Given the description of an element on the screen output the (x, y) to click on. 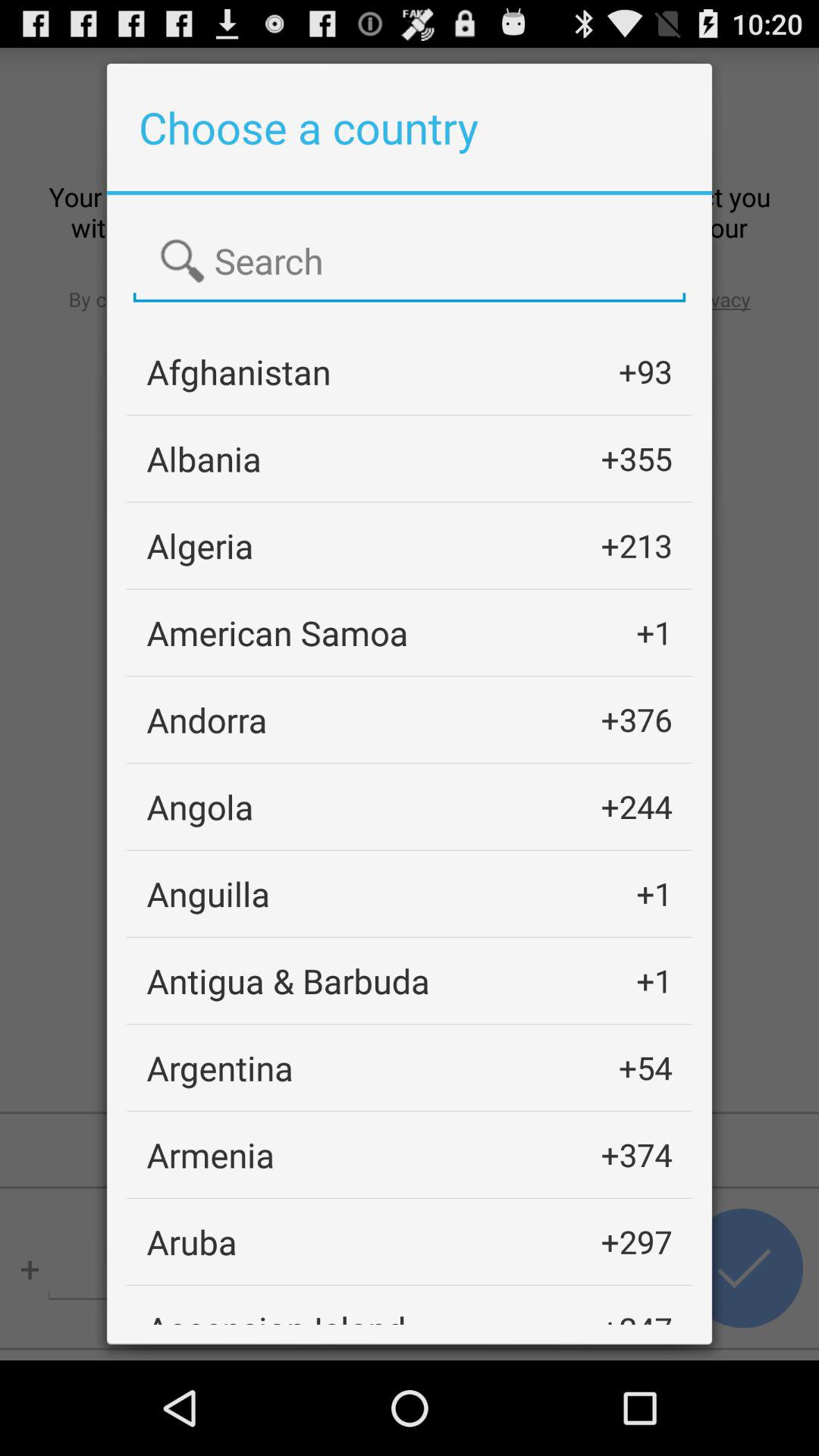
search (409, 261)
